Given the description of an element on the screen output the (x, y) to click on. 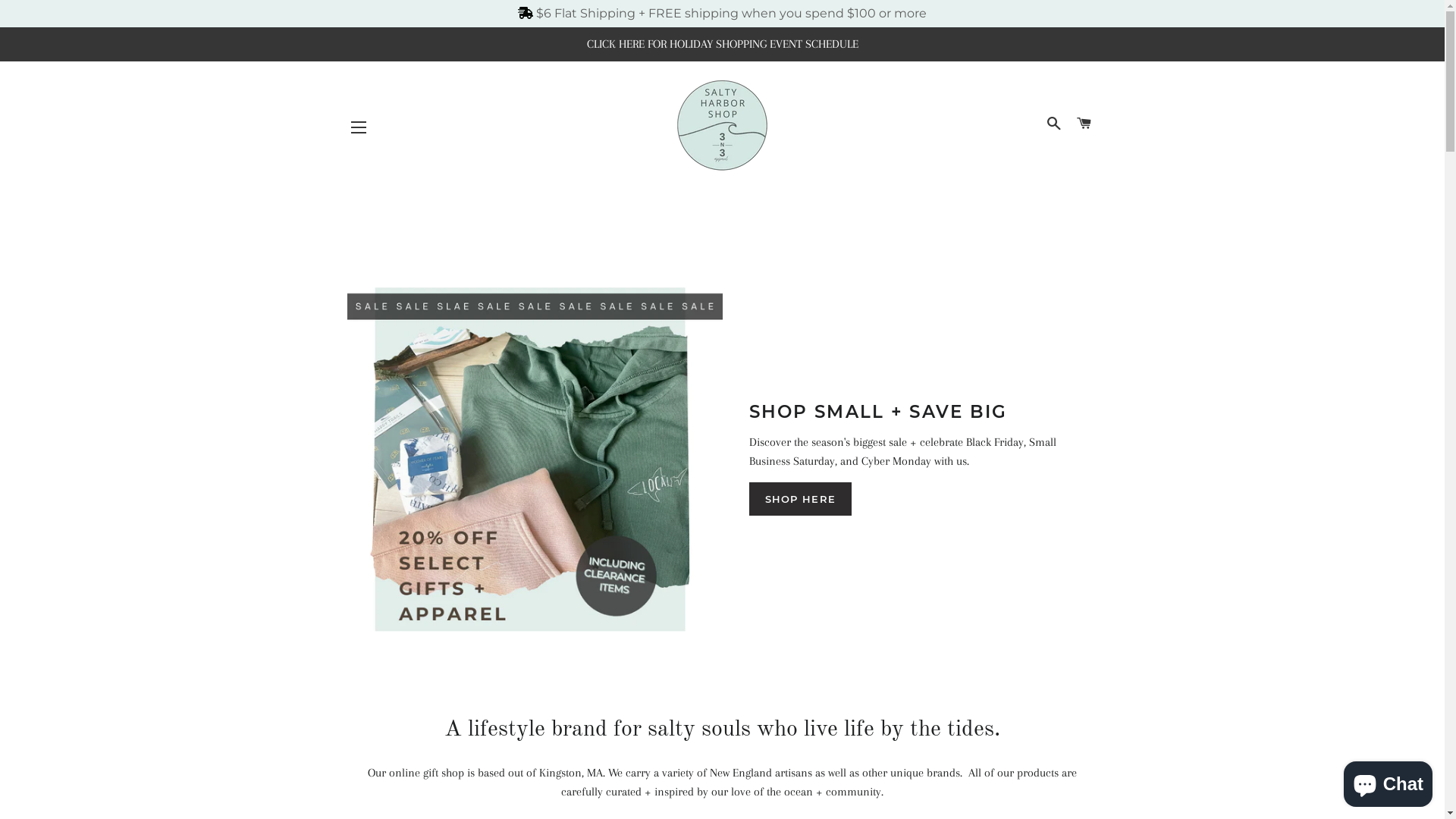
Shopify online store chat Element type: hover (1388, 780)
SEARCH Element type: text (1054, 123)
CLICK HERE FOR HOLIDAY SHOPPING EVENT SCHEDULE Element type: text (722, 44)
CART Element type: text (1083, 123)
SITE NAVIGATION Element type: text (358, 126)
SHOP HERE Element type: text (800, 498)
